Given the description of an element on the screen output the (x, y) to click on. 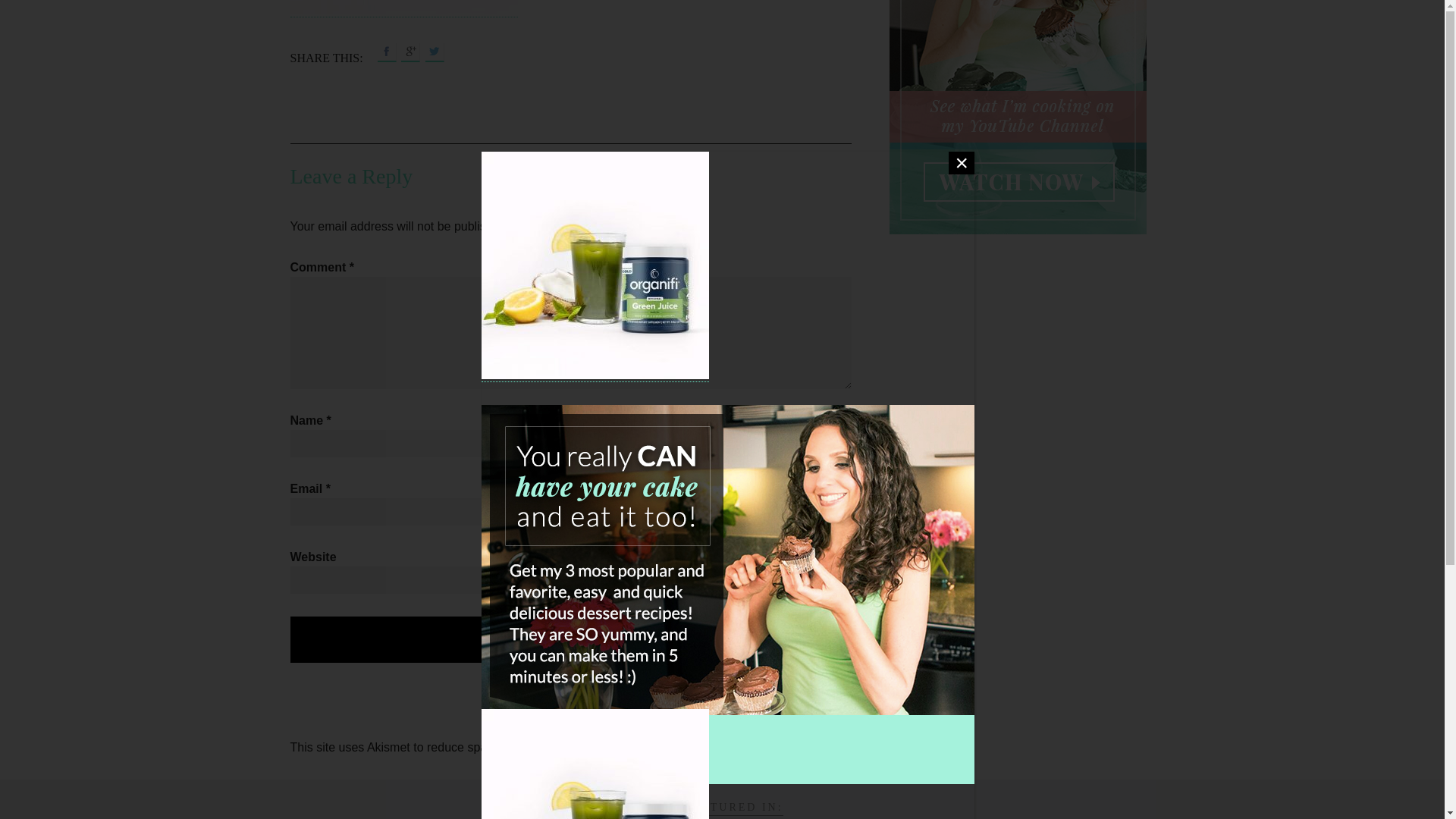
Get it now (878, 183)
Post Comment (569, 639)
